Given the description of an element on the screen output the (x, y) to click on. 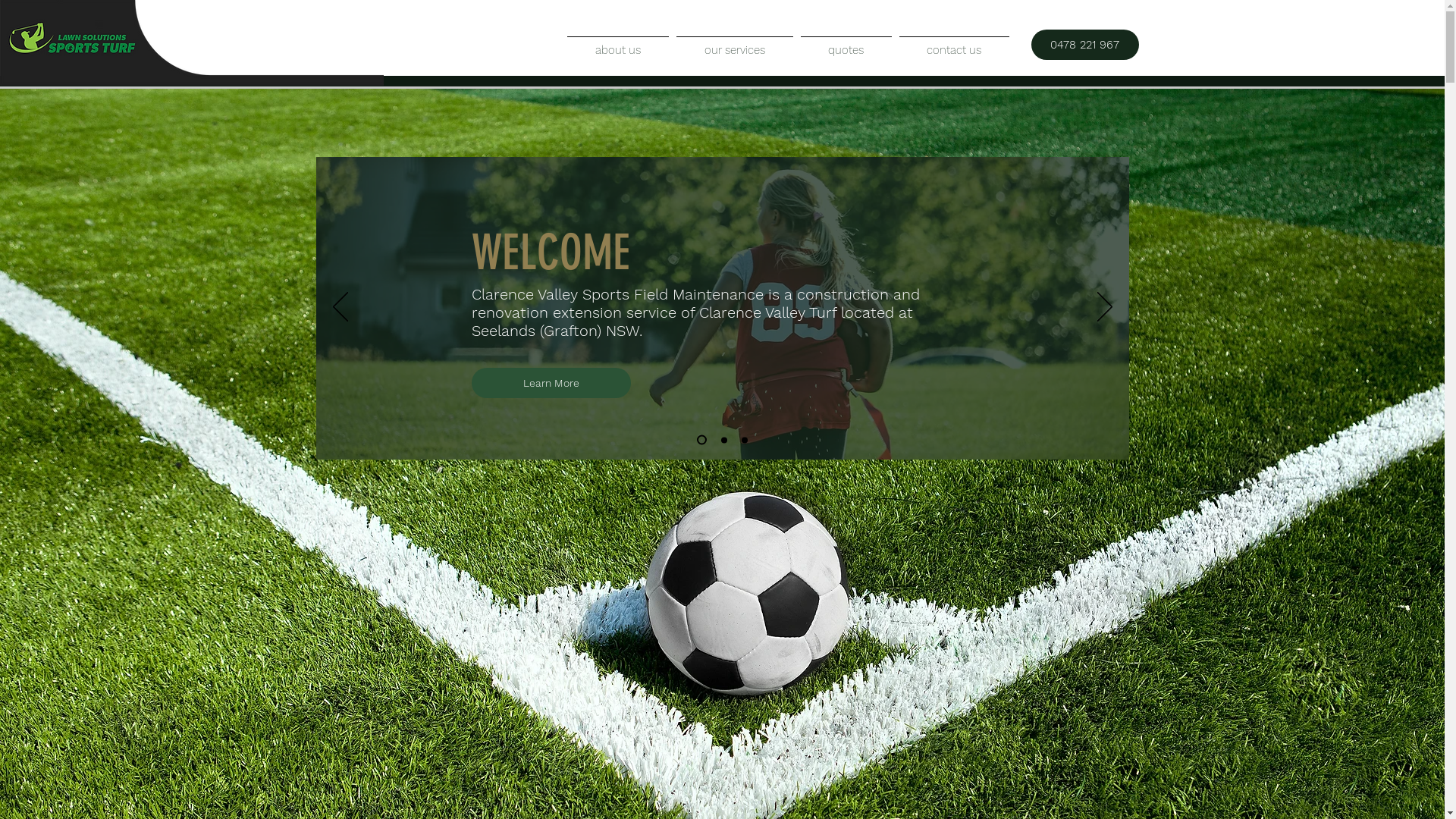
quotes Element type: text (845, 43)
Learn More Element type: text (550, 382)
our services Element type: text (733, 43)
0478 221 967 Element type: text (1085, 44)
about us Element type: text (616, 43)
contact us Element type: text (953, 43)
